Given the description of an element on the screen output the (x, y) to click on. 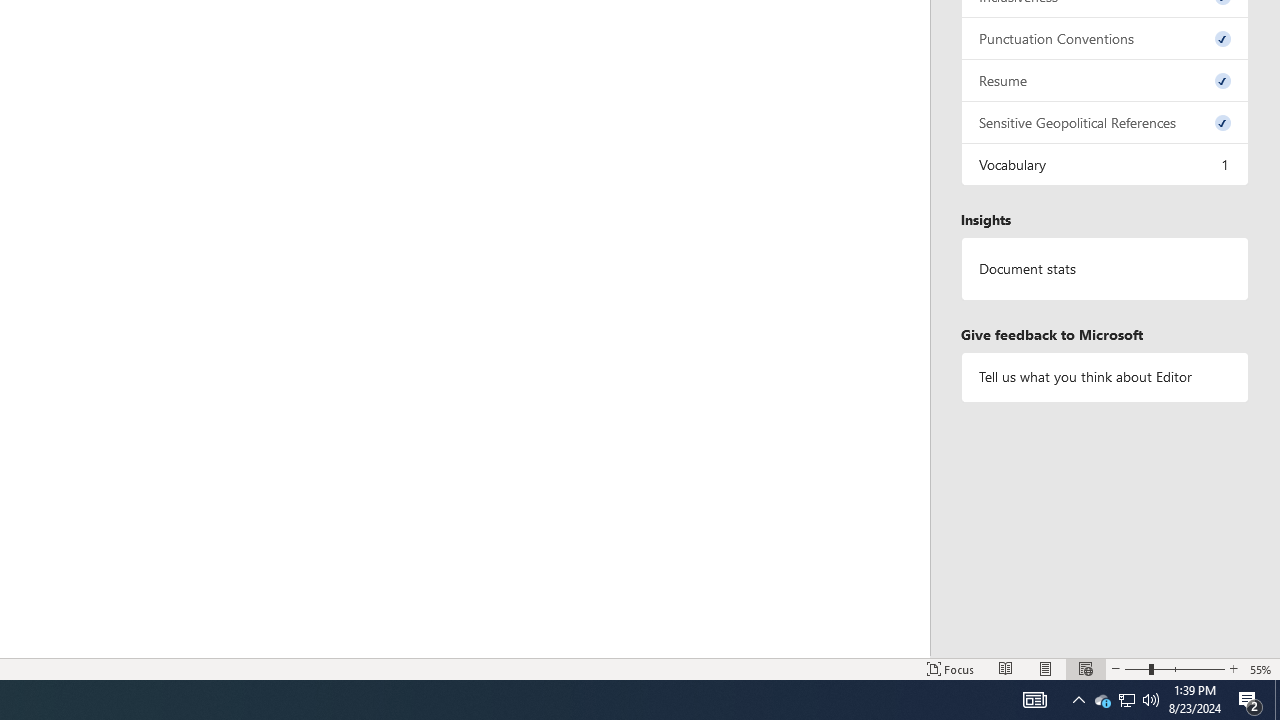
Show desktop (1126, 699)
AutomationID: 4105 (1277, 699)
Zoom In (1034, 699)
Notification Chevron (1102, 699)
User Promoted Notification Area (1233, 668)
Zoom 55% (1078, 699)
Action Center, 2 new notifications (1126, 699)
Document statistics (1261, 668)
Focus  (1250, 699)
Print Layout (1105, 269)
